Given the description of an element on the screen output the (x, y) to click on. 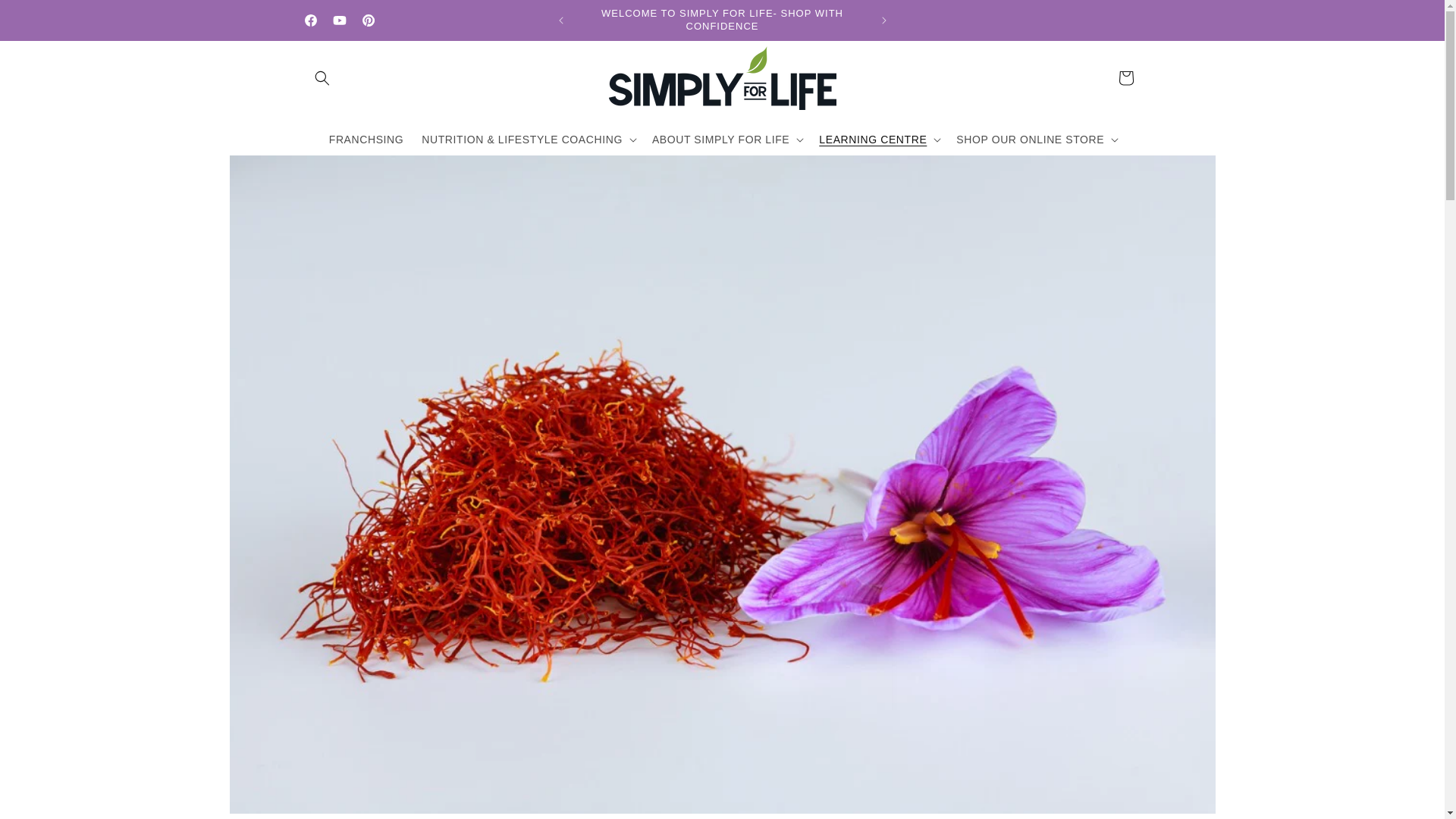
Facebook (309, 20)
FRANCHSING (366, 139)
Pinterest (367, 20)
Skip to content (45, 17)
YouTube (338, 20)
